Given the description of an element on the screen output the (x, y) to click on. 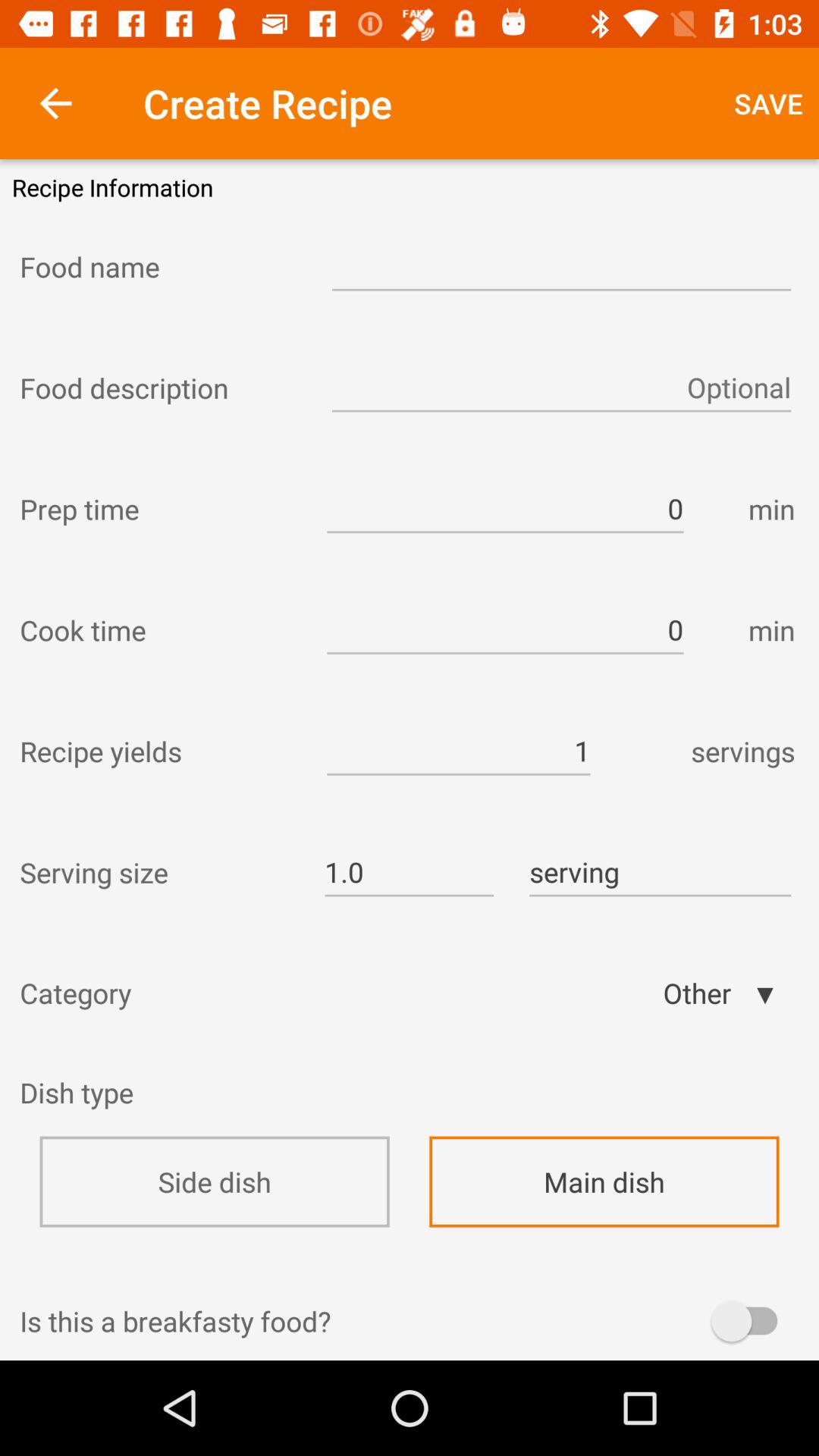
launch the item below the recipe information item (161, 266)
